Given the description of an element on the screen output the (x, y) to click on. 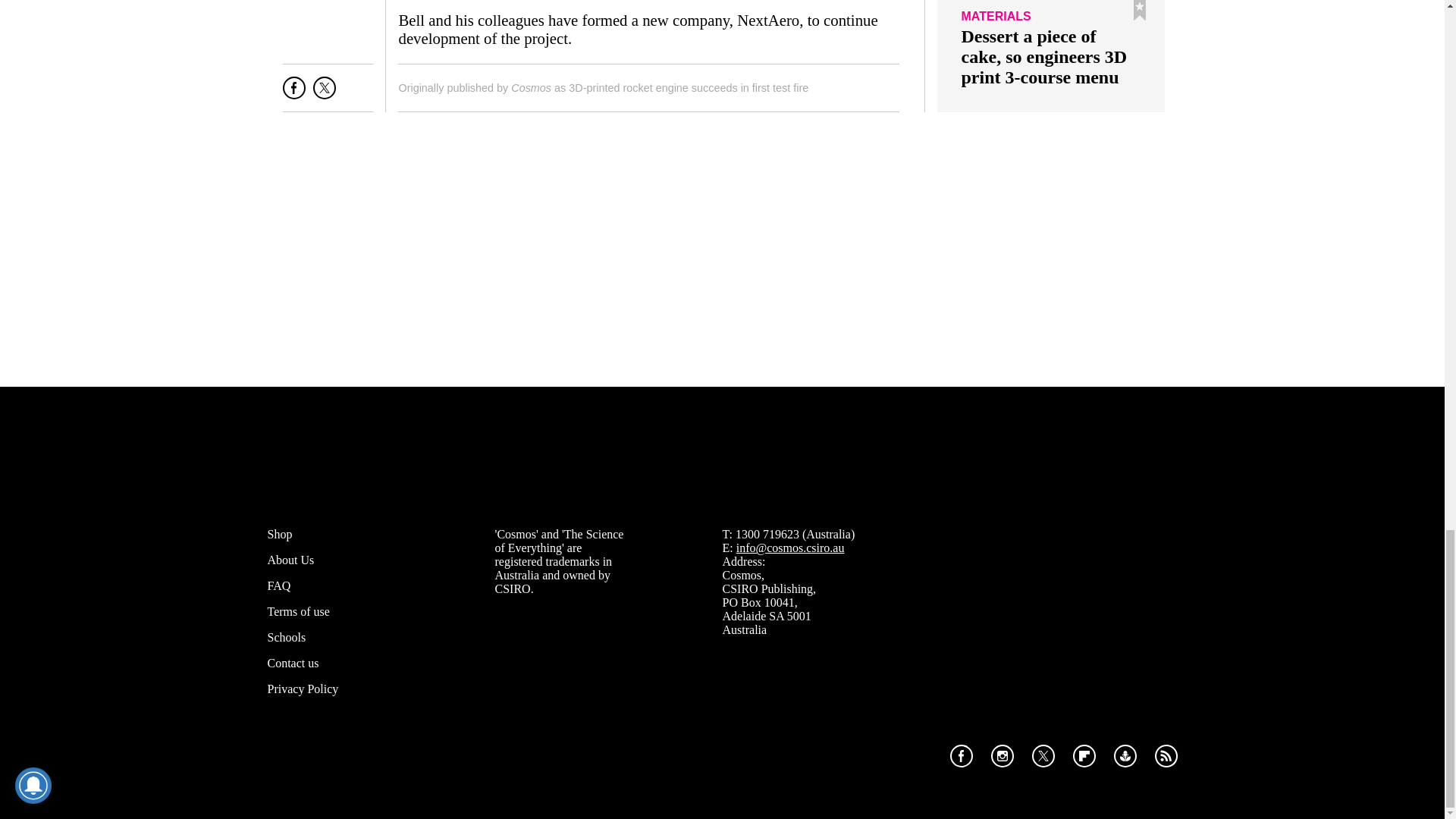
3D-printed rocket engine succeeds in first test fire (688, 87)
Share on Facebook (293, 93)
Tweet (324, 93)
